Given the description of an element on the screen output the (x, y) to click on. 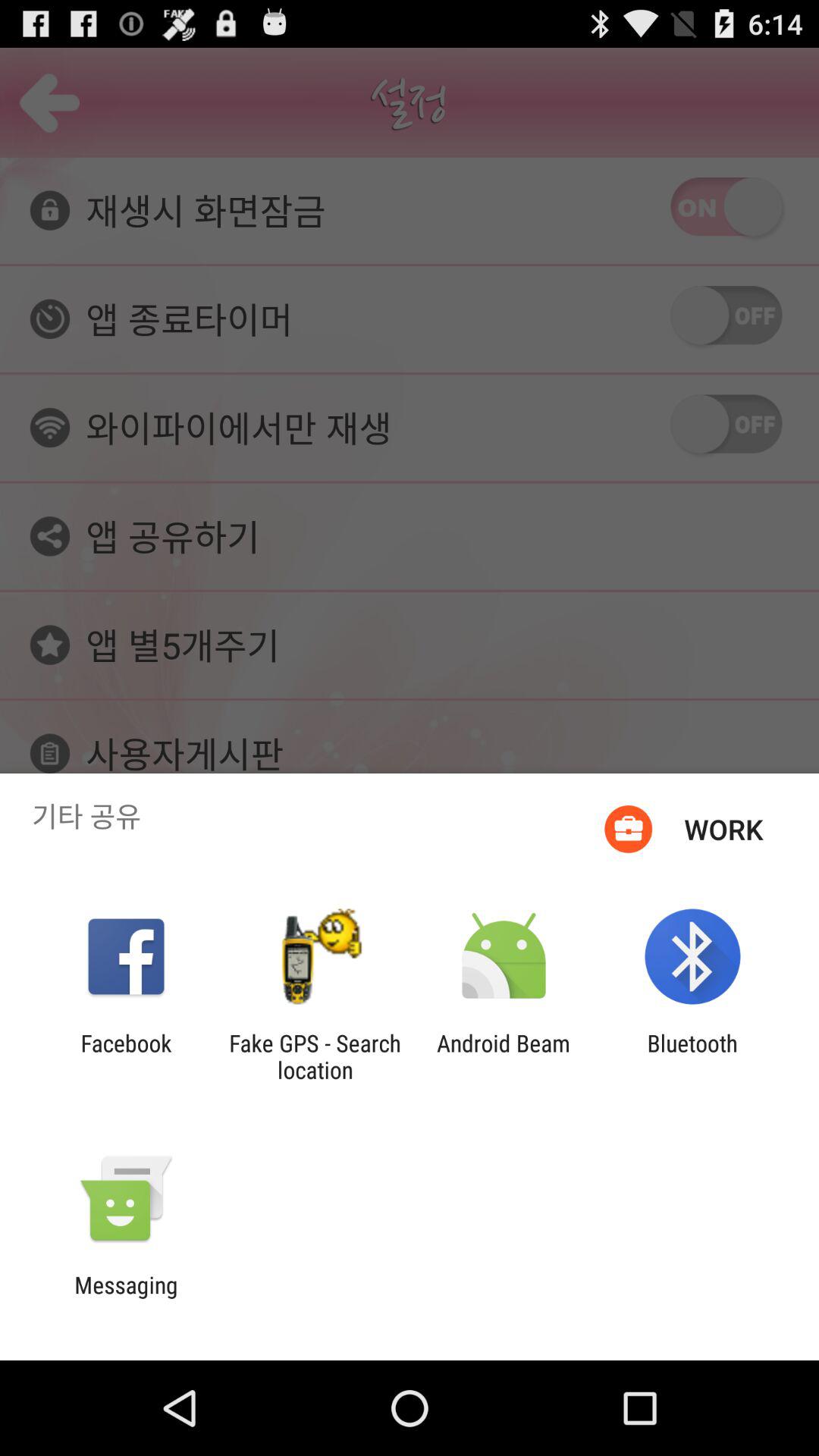
jump until the fake gps search (314, 1056)
